Given the description of an element on the screen output the (x, y) to click on. 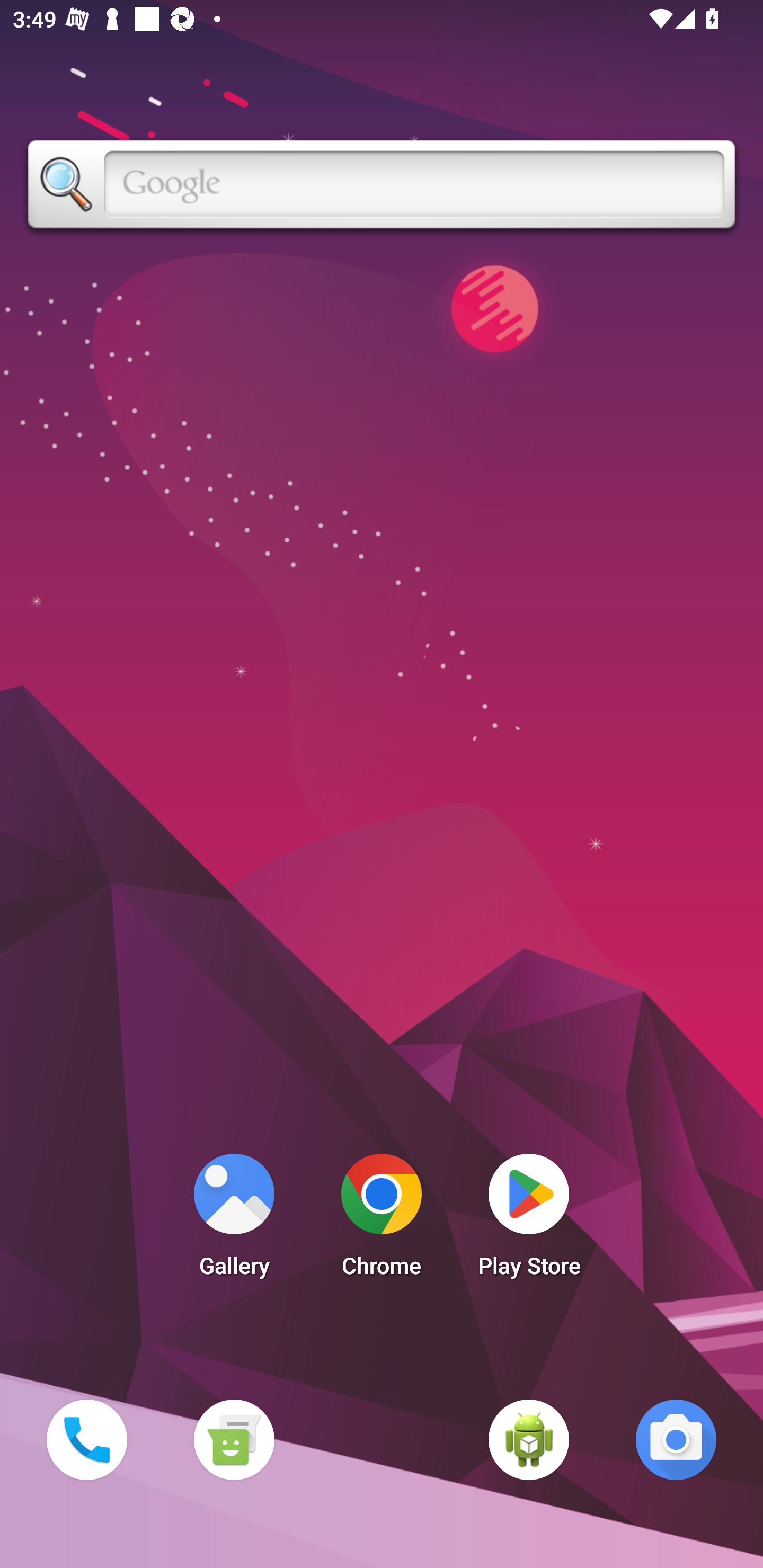
Gallery (233, 1220)
Chrome (381, 1220)
Play Store (528, 1220)
Phone (86, 1439)
Messaging (233, 1439)
WebView Browser Tester (528, 1439)
Camera (676, 1439)
